Given the description of an element on the screen output the (x, y) to click on. 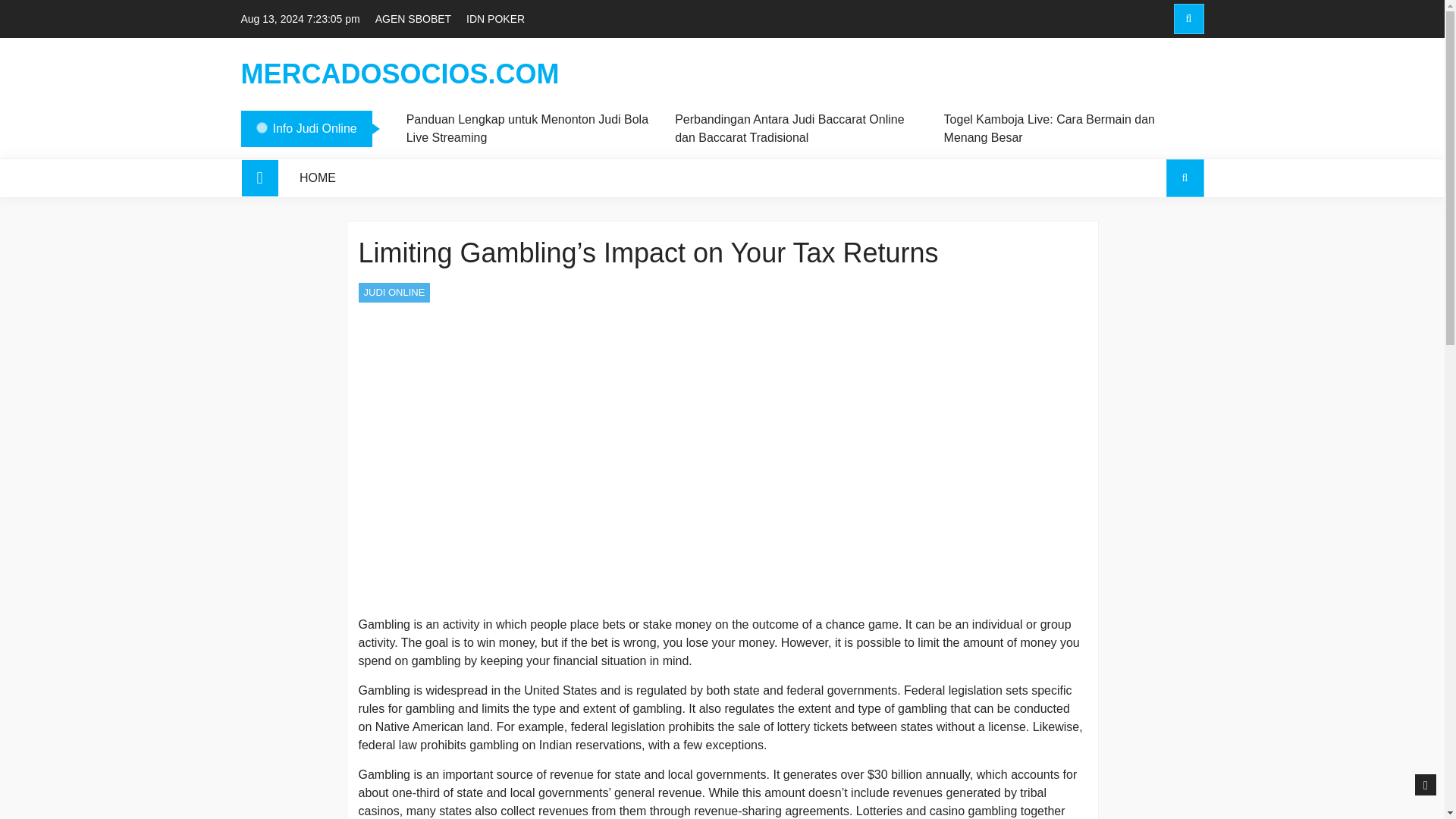
HOME (317, 177)
Search (1188, 19)
MERCADOSOCIOS.COM (400, 73)
Search (1156, 83)
AGEN SBOBET (413, 18)
Search (1185, 177)
IDN POKER (494, 18)
Search (1156, 243)
Panduan Lengkap untuk Menonton Judi Bola Live Streaming (527, 128)
